Given the description of an element on the screen output the (x, y) to click on. 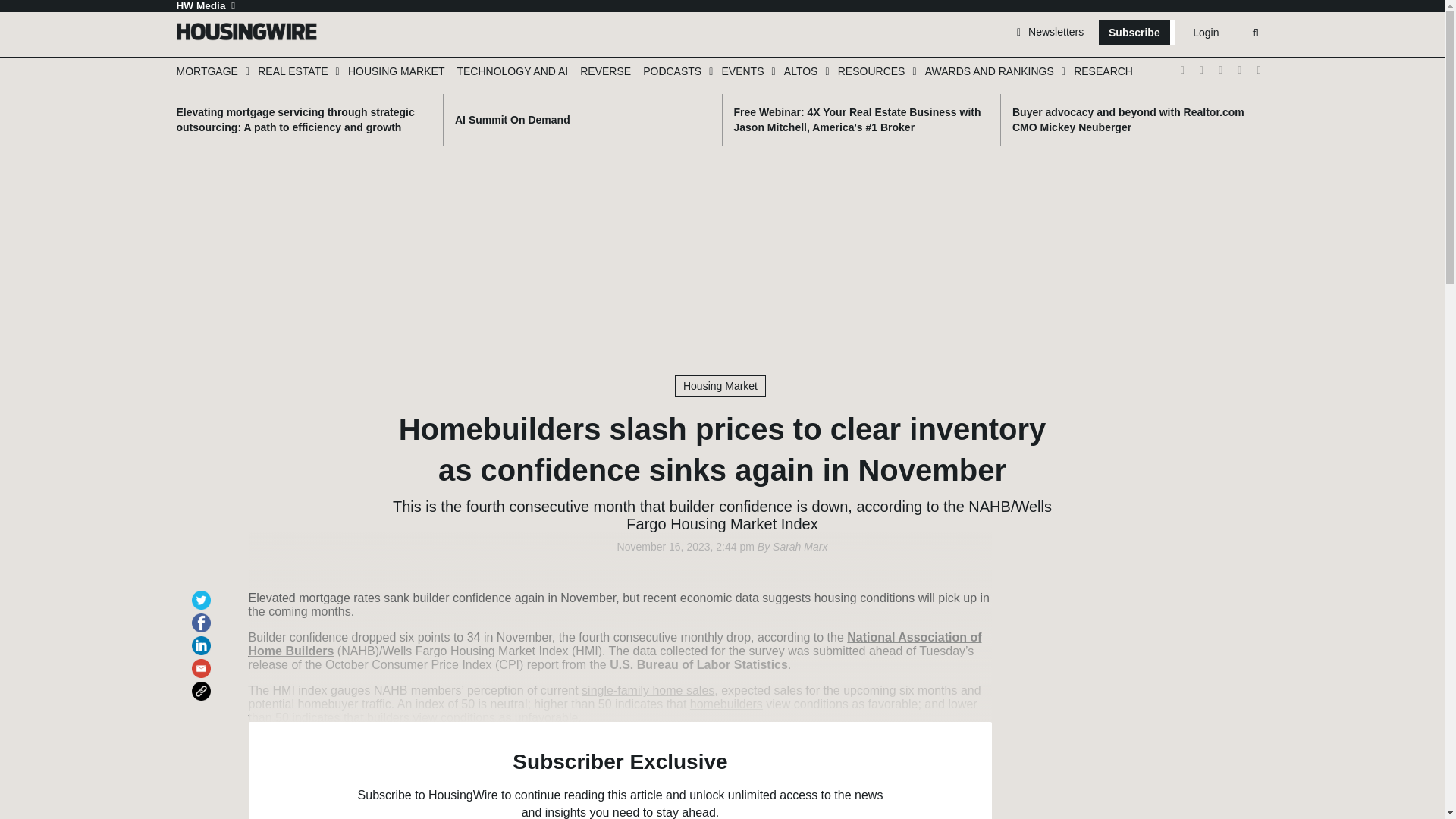
Login (1205, 32)
offer-0-kvx3o (619, 770)
Click to copy link (203, 684)
Click to email a link to a friend (203, 661)
open search bar (1255, 32)
Click to share on LinkedIn (203, 638)
Posts by Sarah Marx (800, 546)
Click to share on Twitter (203, 593)
Click to share on Facebook (203, 616)
Newsletters (1049, 31)
